Given the description of an element on the screen output the (x, y) to click on. 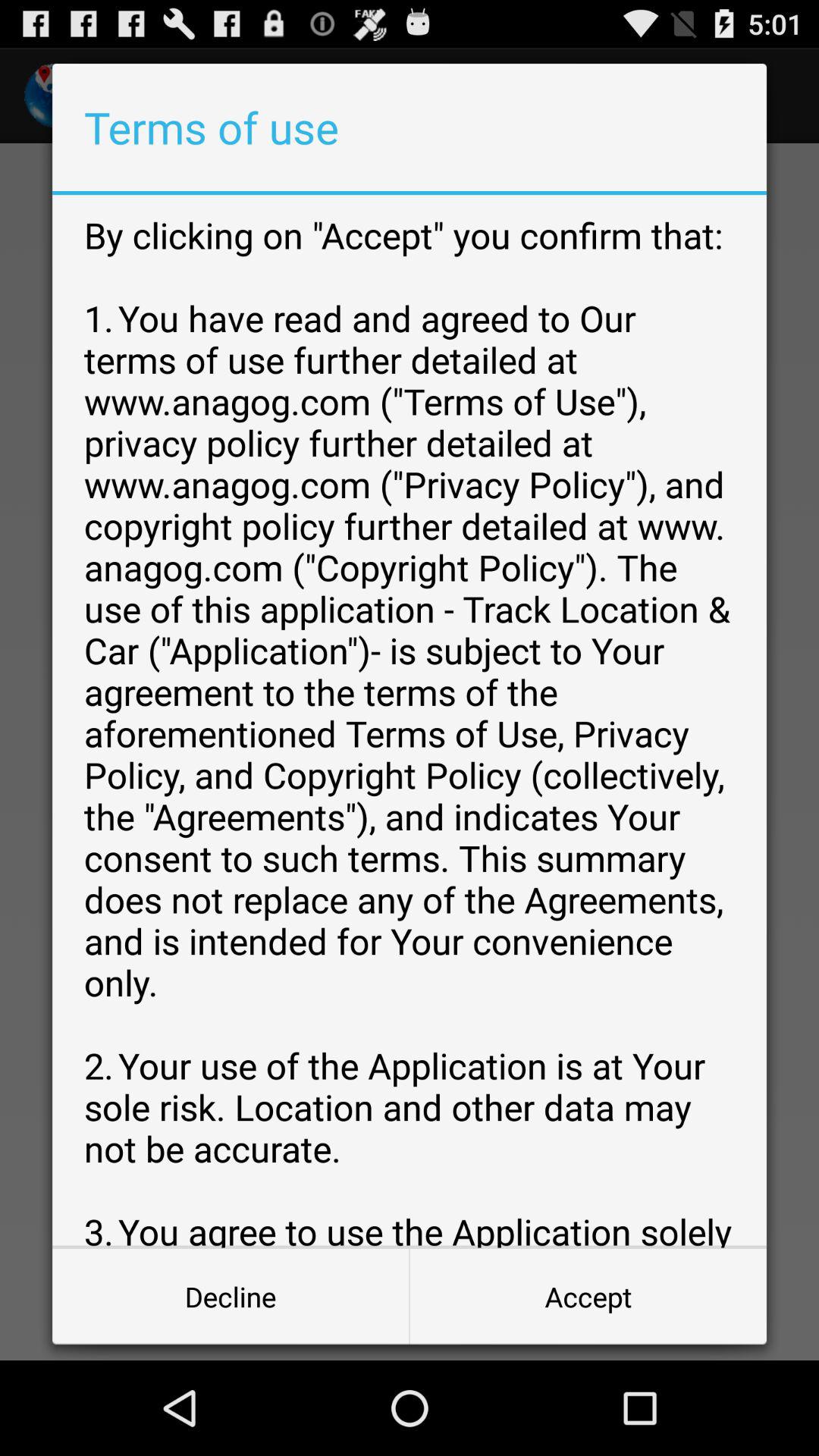
choose button at the bottom left corner (230, 1296)
